Given the description of an element on the screen output the (x, y) to click on. 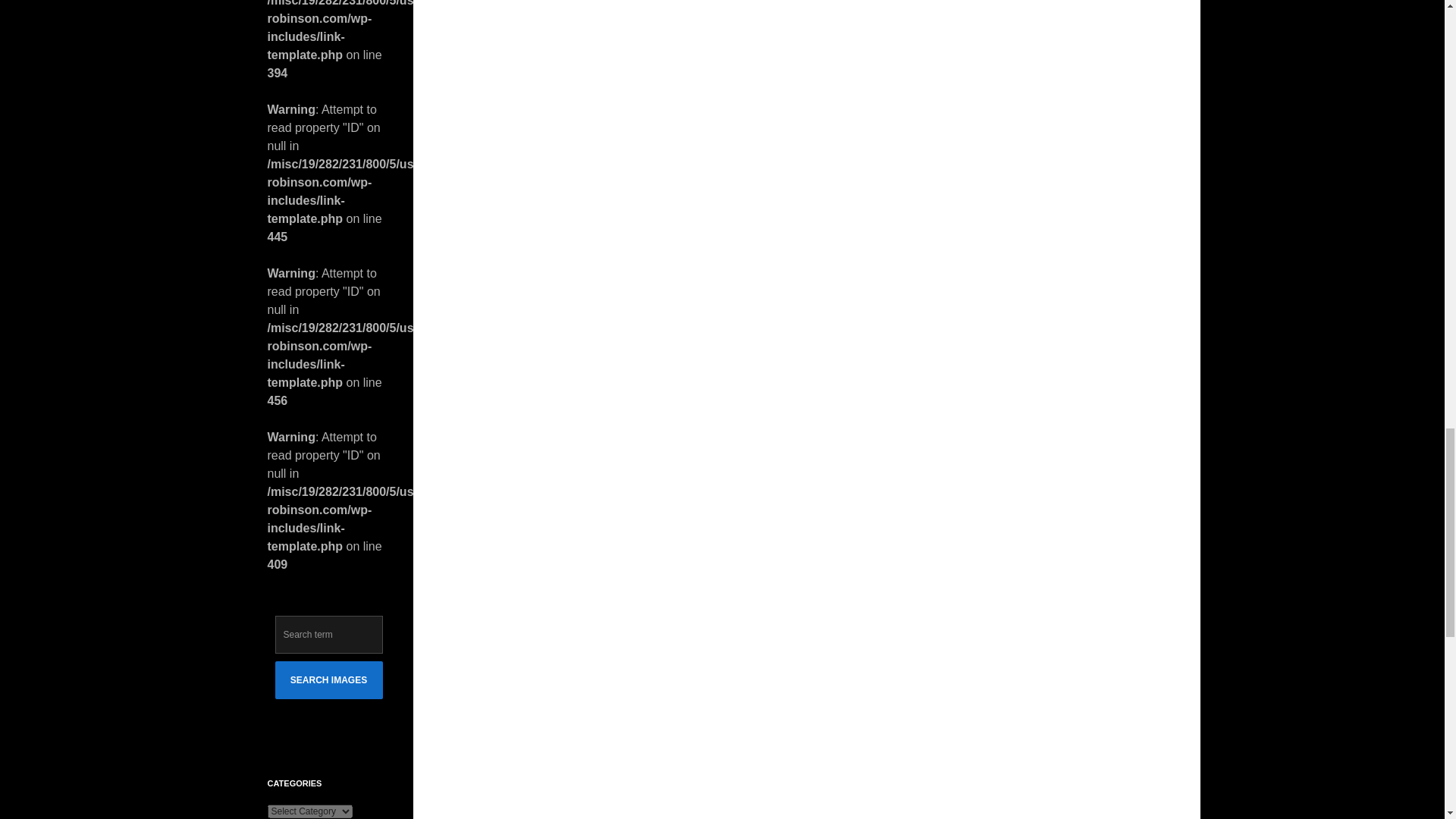
Search Images (328, 679)
Search Images (328, 679)
